Given the description of an element on the screen output the (x, y) to click on. 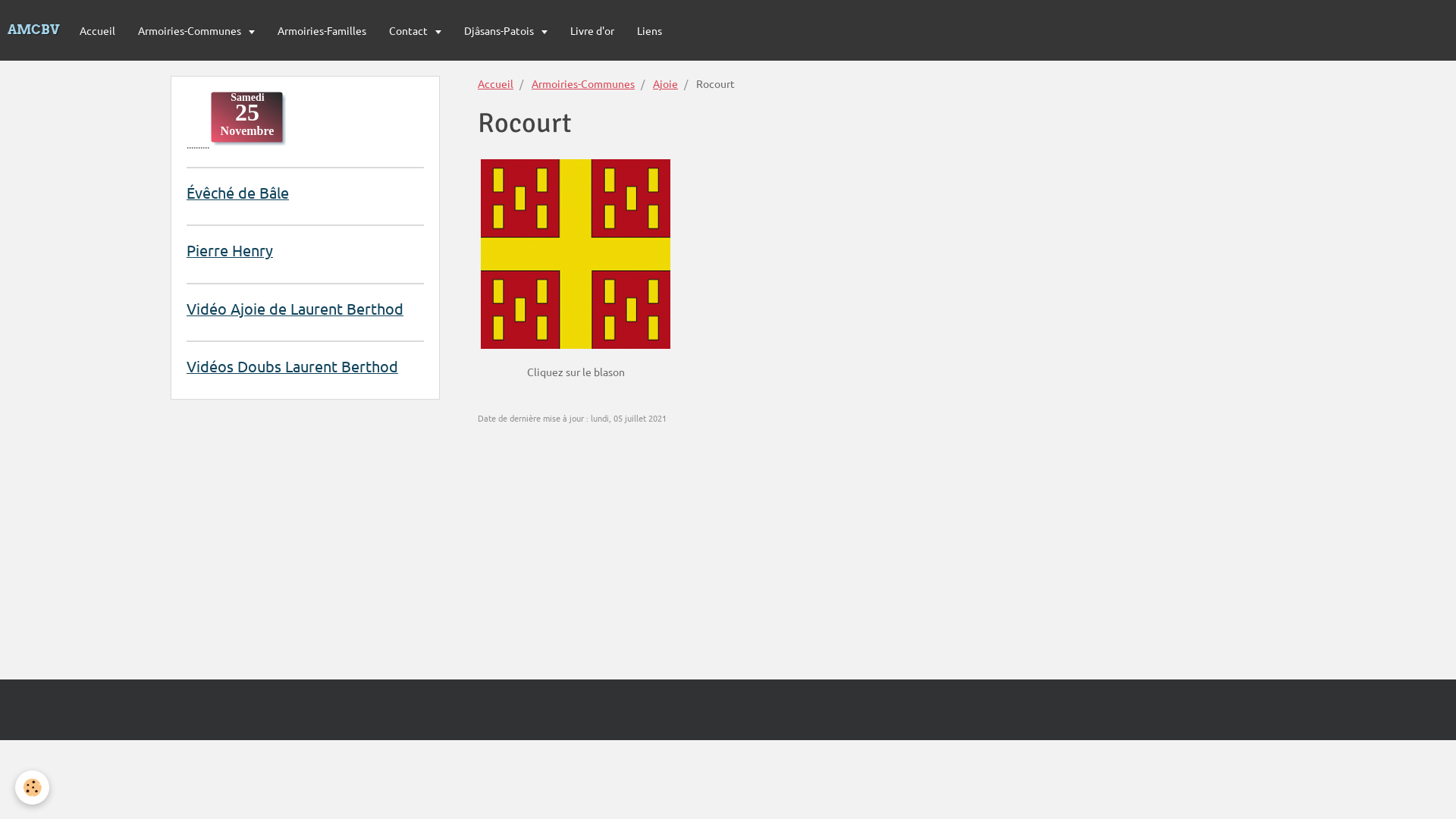
Pierre Henry Element type: text (229, 249)
Liens Element type: text (649, 30)
Accueil Element type: text (495, 83)
Armoiries-Communes Element type: text (196, 30)
Accueil Element type: text (97, 30)
Livre d'or Element type: text (591, 30)
Armoiries-Communes Element type: text (582, 83)
Armoiries-Familles Element type: text (321, 30)
AMCBV Element type: text (33, 30)
Ajoie Element type: text (664, 83)
Contact Element type: text (414, 30)
